Given the description of an element on the screen output the (x, y) to click on. 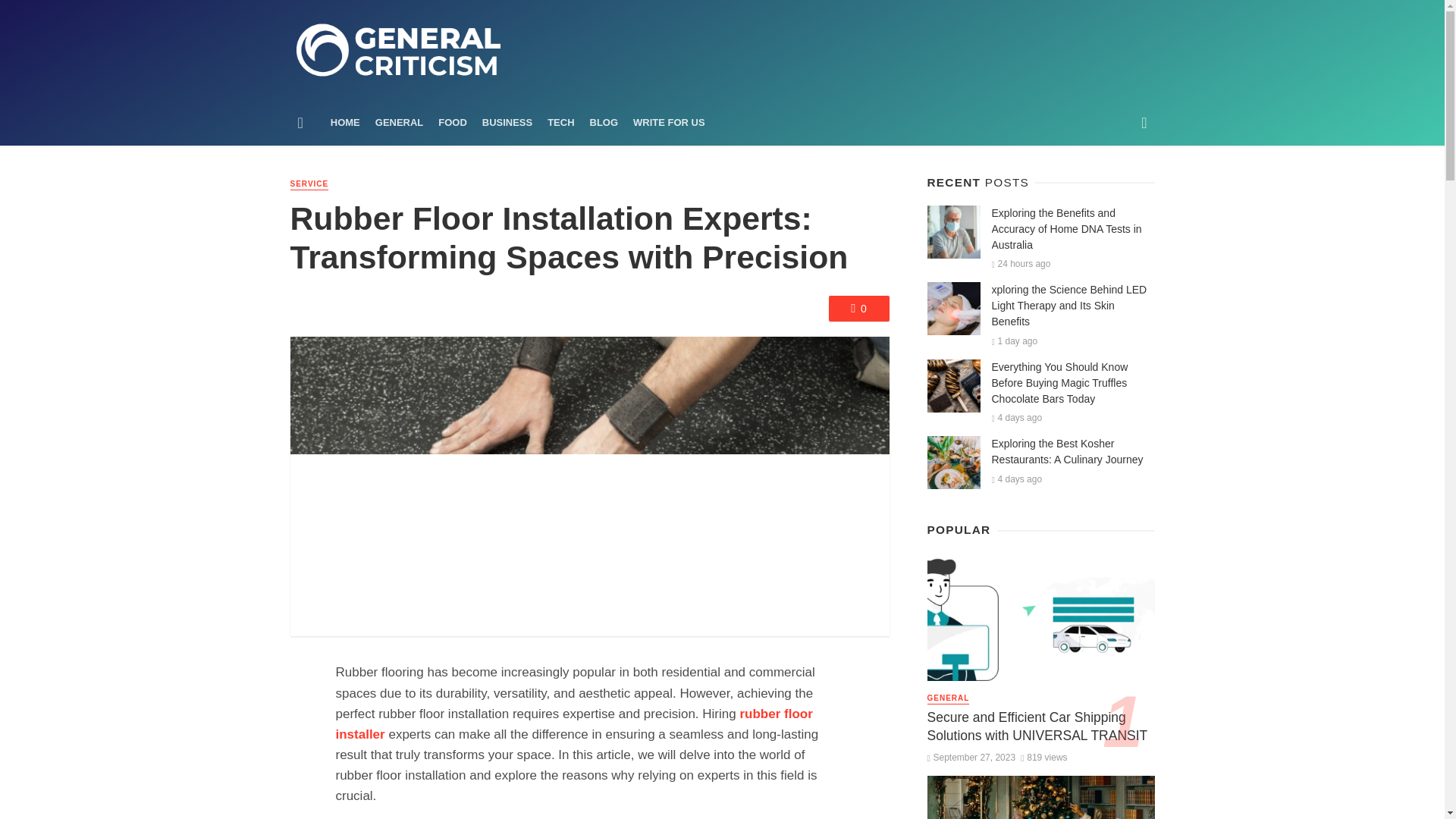
SERVICE (309, 184)
0 Comments (858, 308)
BLOG (604, 122)
rubber floor installer (573, 724)
BUSINESS (507, 122)
WRITE FOR US (669, 122)
TECH (560, 122)
0 (858, 308)
GENERAL (399, 122)
HOME (345, 122)
